Given the description of an element on the screen output the (x, y) to click on. 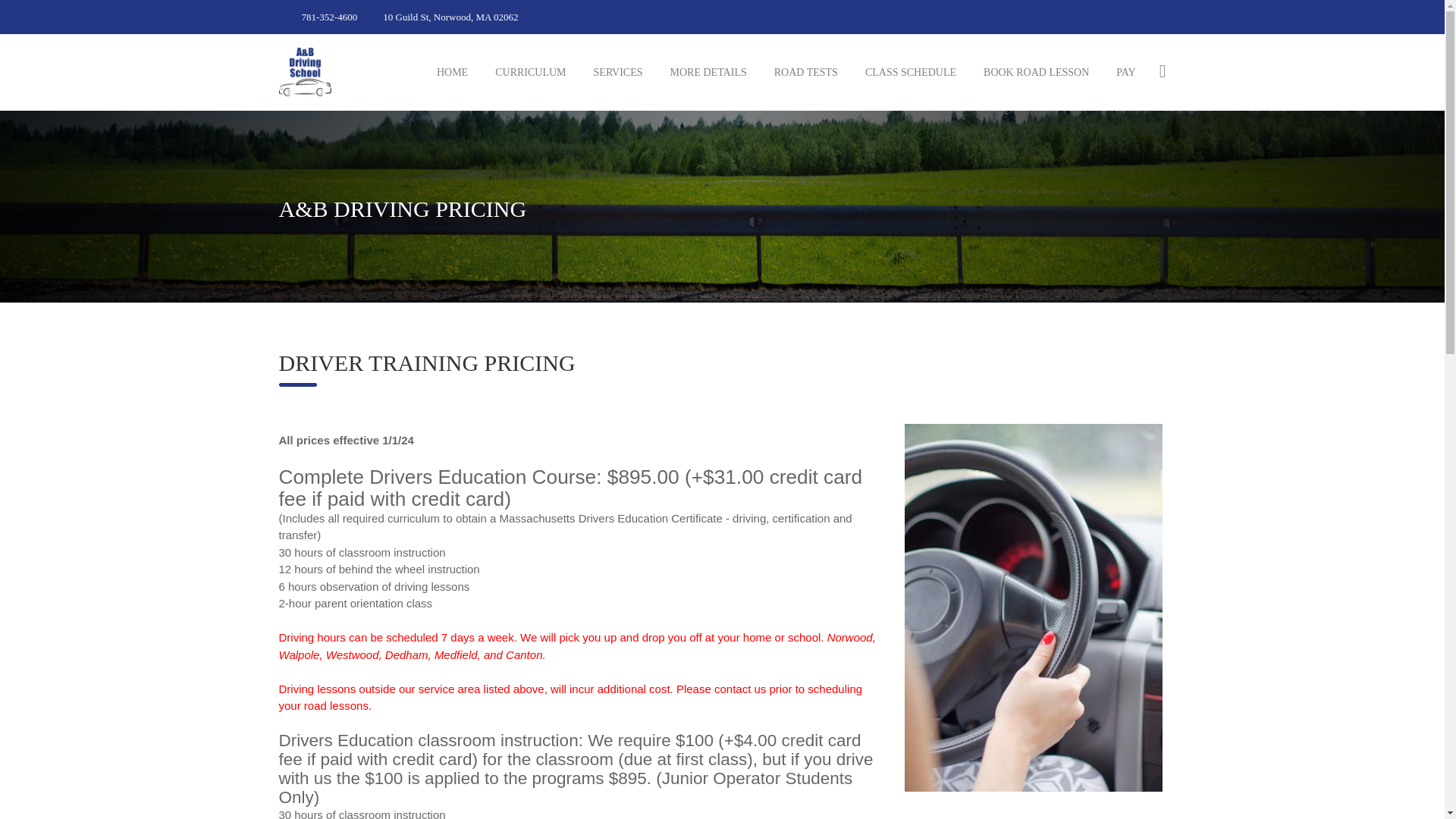
ROAD TESTS (805, 72)
CLASS SCHEDULE (910, 72)
HOME (451, 72)
PAY (1125, 72)
CURRICULUM (530, 72)
MORE DETAILS (708, 72)
SERVICES (617, 72)
BOOK ROAD LESSON (1036, 72)
